Given the description of an element on the screen output the (x, y) to click on. 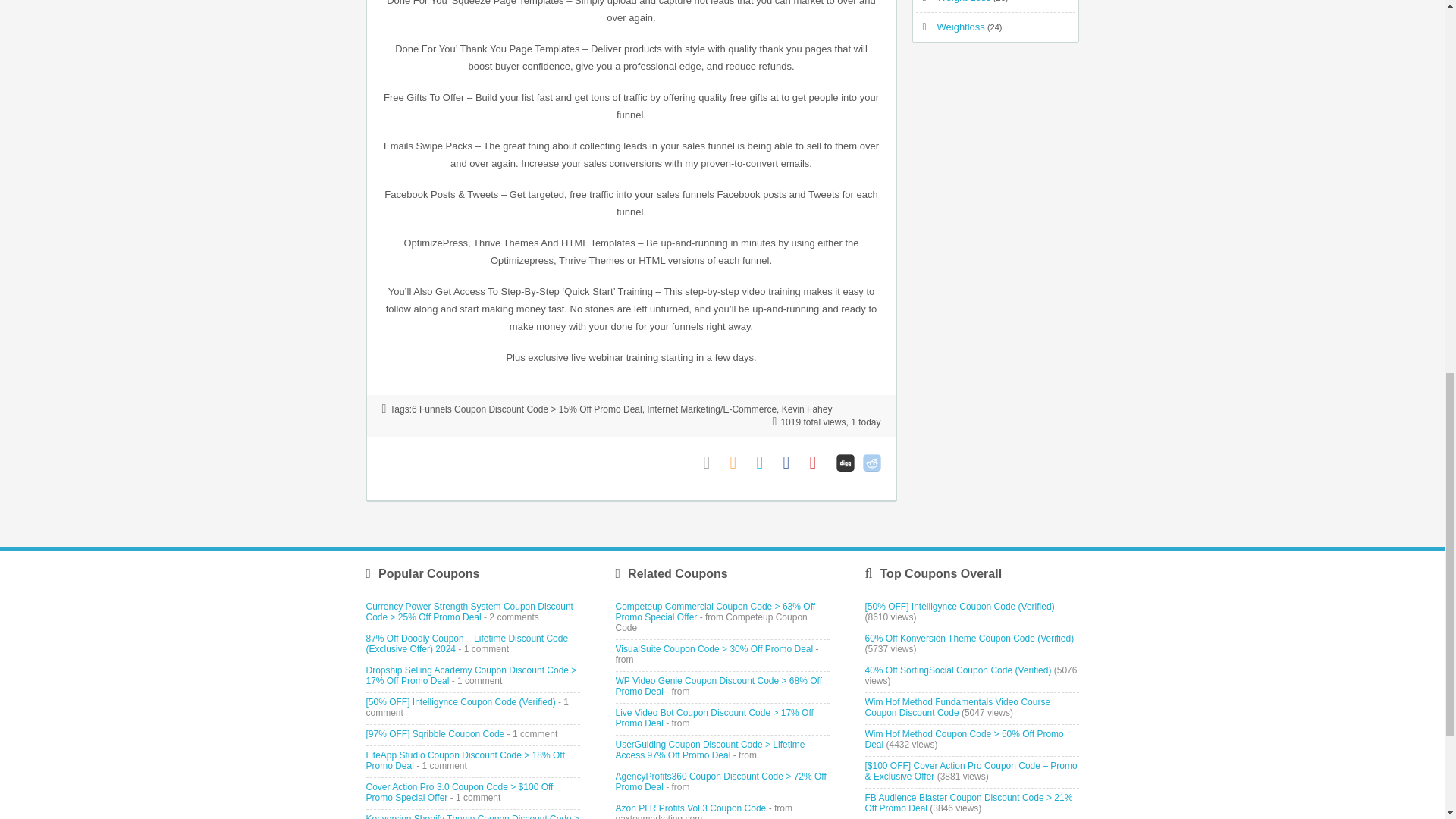
Reddit (871, 462)
Twitter (765, 462)
Coupon Comments RSS (738, 462)
Kevin Fahey (806, 409)
Facebook (791, 462)
Digg (844, 462)
Email to Friend (712, 462)
Pinterest (818, 462)
